Given the description of an element on the screen output the (x, y) to click on. 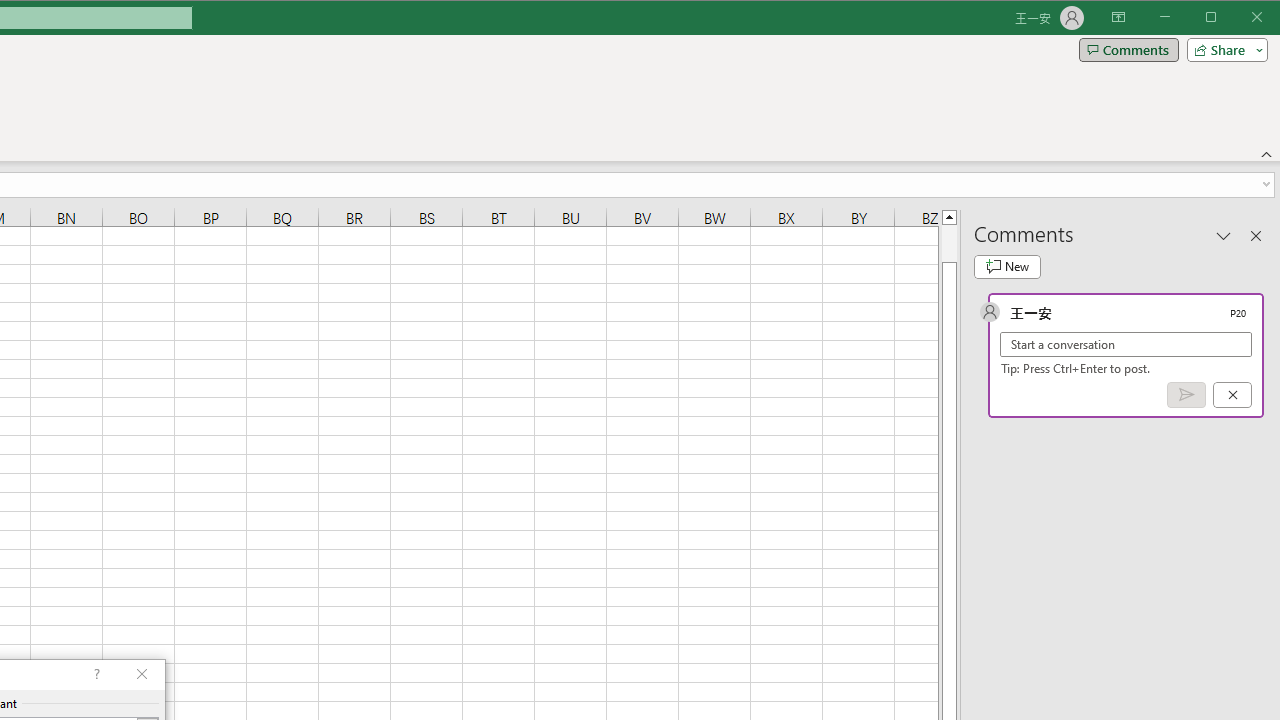
Page up (948, 243)
Cancel (1232, 395)
Comments (1128, 49)
Minimize (1217, 18)
Post comment (Ctrl + Enter) (1186, 395)
New comment (1007, 266)
Share (1223, 49)
Maximize (1239, 18)
Task Pane Options (1224, 235)
Start a conversation (1126, 344)
Collapse the Ribbon (1267, 154)
Close pane (1256, 235)
Line up (948, 216)
